Given the description of an element on the screen output the (x, y) to click on. 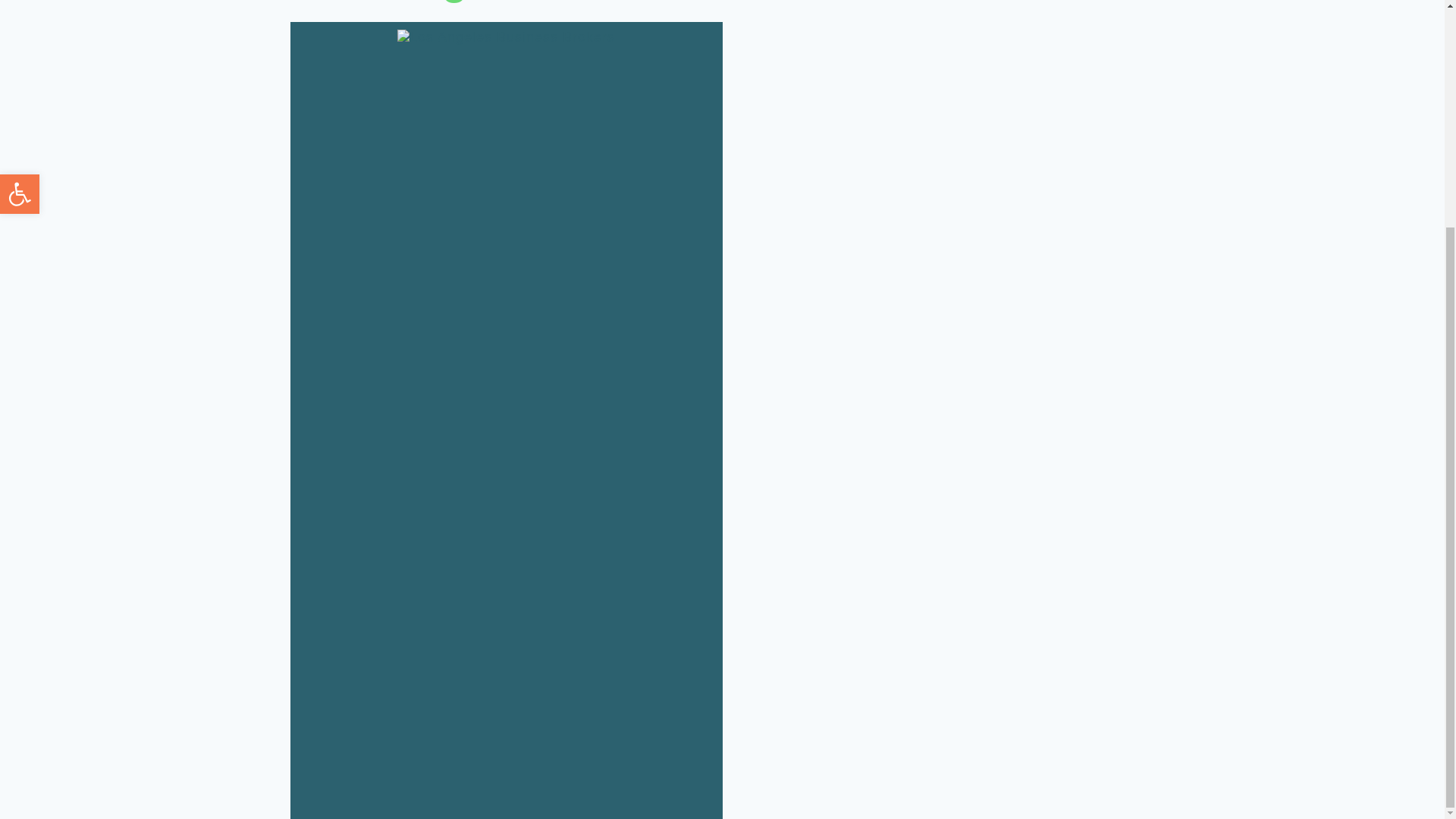
Los Angeles, California, USA Skyline. (505, 37)
